Given the description of an element on the screen output the (x, y) to click on. 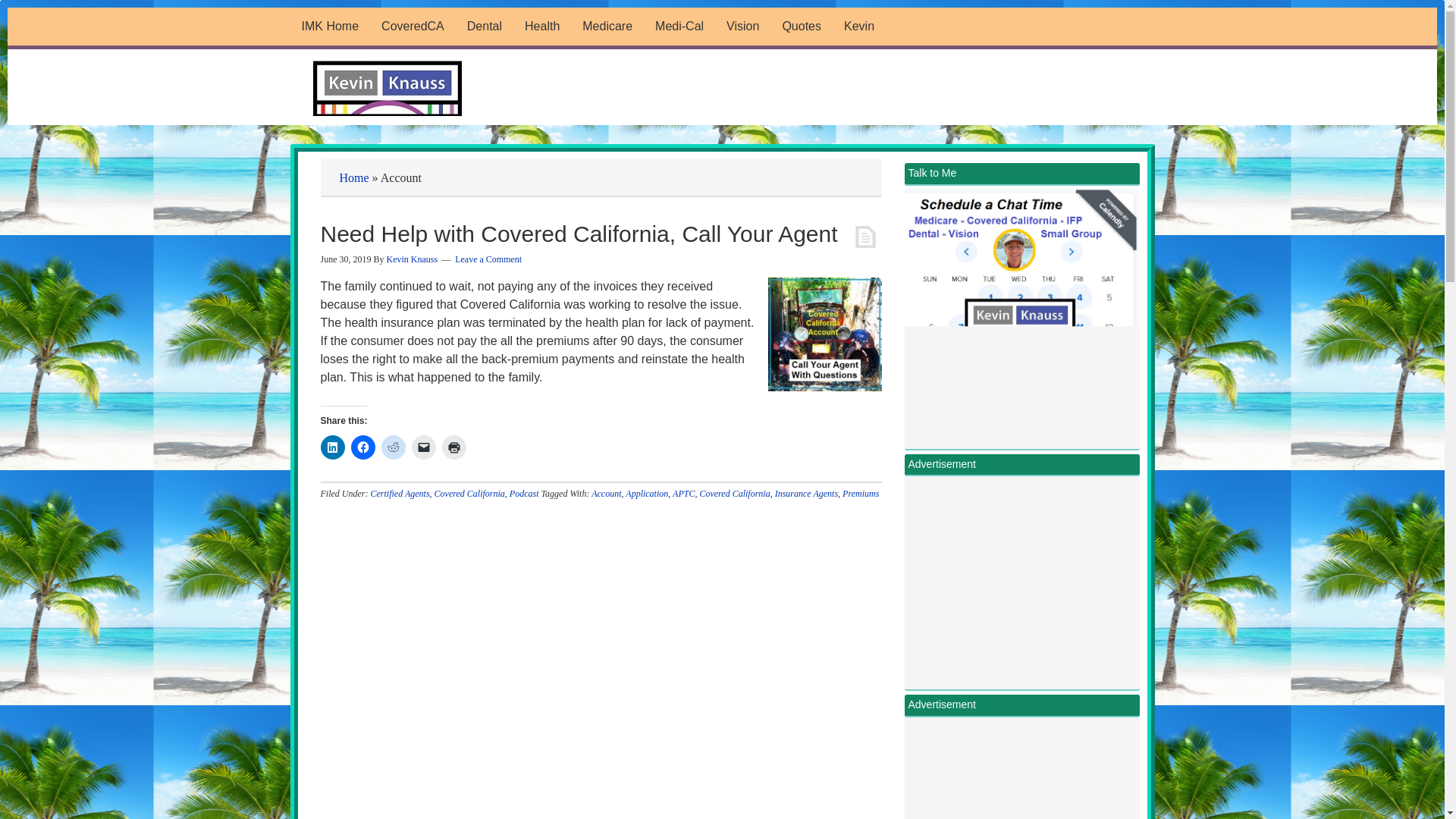
Vision Insurance Plans (742, 26)
Click to share on LinkedIn (331, 446)
Kevin Knauss (858, 26)
Dental (484, 26)
Click to share on Facebook (362, 446)
Individual and Family Health Plans (541, 26)
Medicare Resources (606, 26)
Health-Dental-Vision Insurance (801, 26)
Health (541, 26)
Dental Insurance Plans IFP (484, 26)
